Given the description of an element on the screen output the (x, y) to click on. 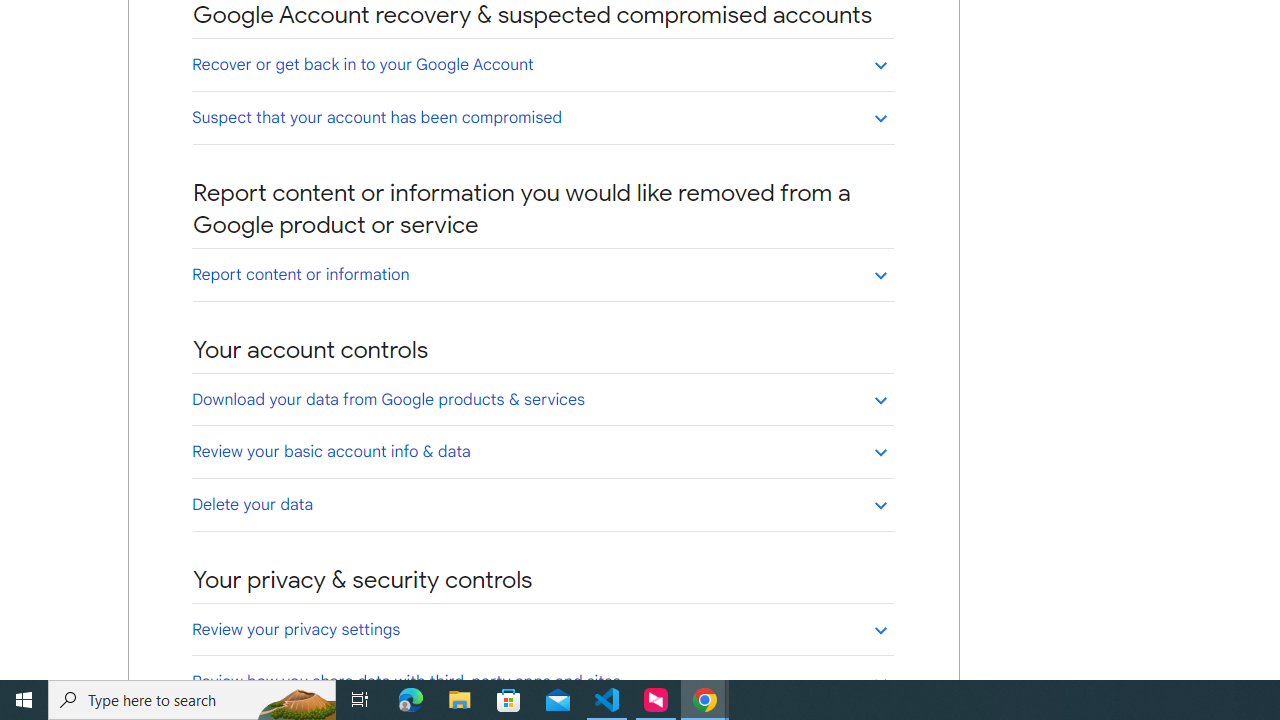
Report content or information (542, 273)
Download your data from Google products & services (542, 399)
Recover or get back in to your Google Account (542, 64)
Review your basic account info & data (542, 451)
Review your privacy settings (542, 629)
Review how you share data with third-party apps and sites (542, 681)
Delete your data (542, 504)
Suspect that your account has been compromised (542, 117)
